Given the description of an element on the screen output the (x, y) to click on. 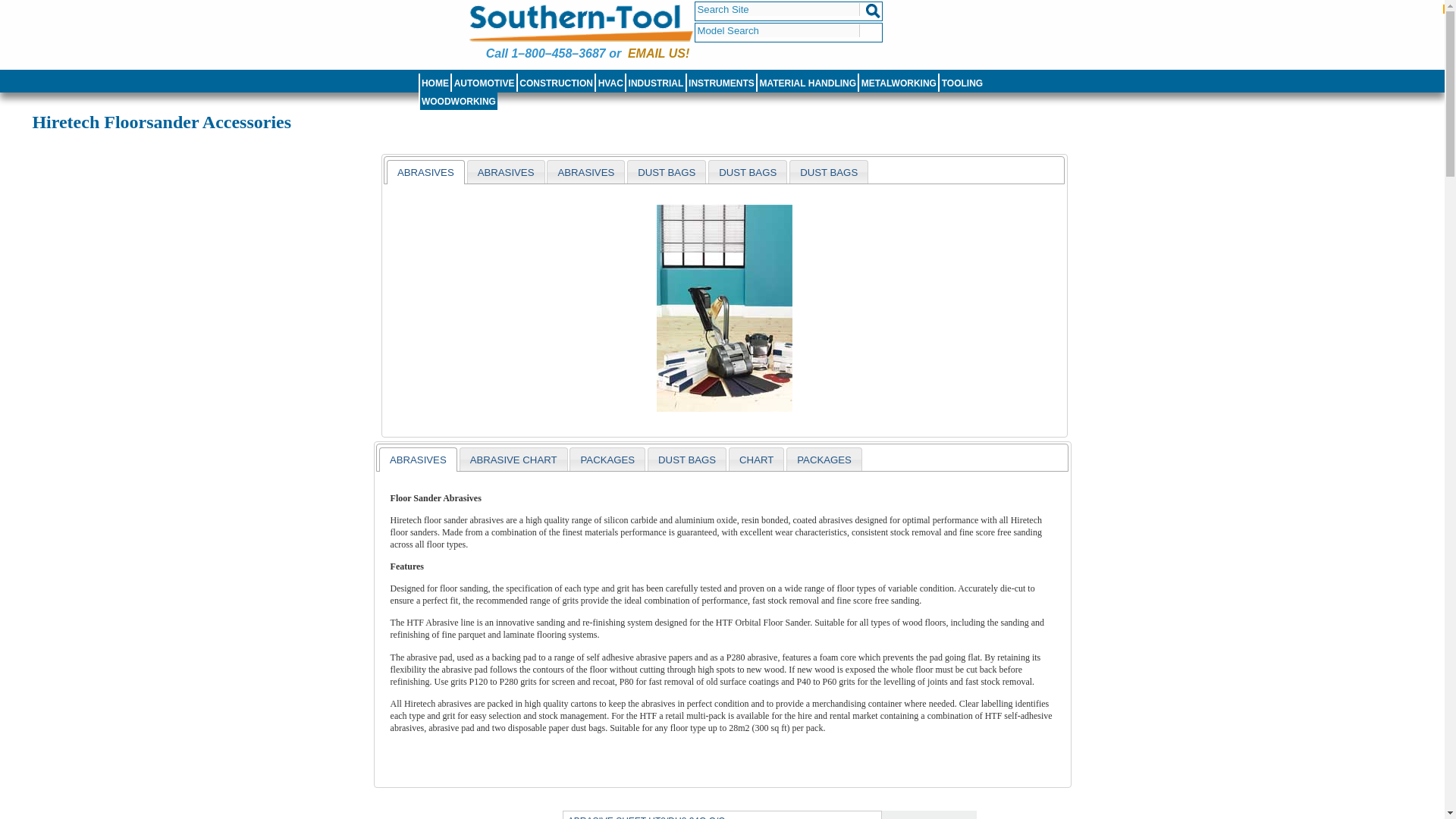
AUTOMOTIVE (483, 83)
Instruments (721, 83)
search by model number (776, 30)
search site (776, 9)
CONSTRUCTION (556, 83)
HOME (435, 83)
 Automotive (483, 83)
Saws, Tooling, Instruments, Router Bits, Carbide inserts (961, 83)
EMAIL US! (657, 52)
Construction (556, 83)
 Woodworking. (458, 101)
Model Search (776, 30)
Material Handling (807, 83)
HVAC (609, 83)
Metalworking, Metalforming and Welding (898, 83)
